Given the description of an element on the screen output the (x, y) to click on. 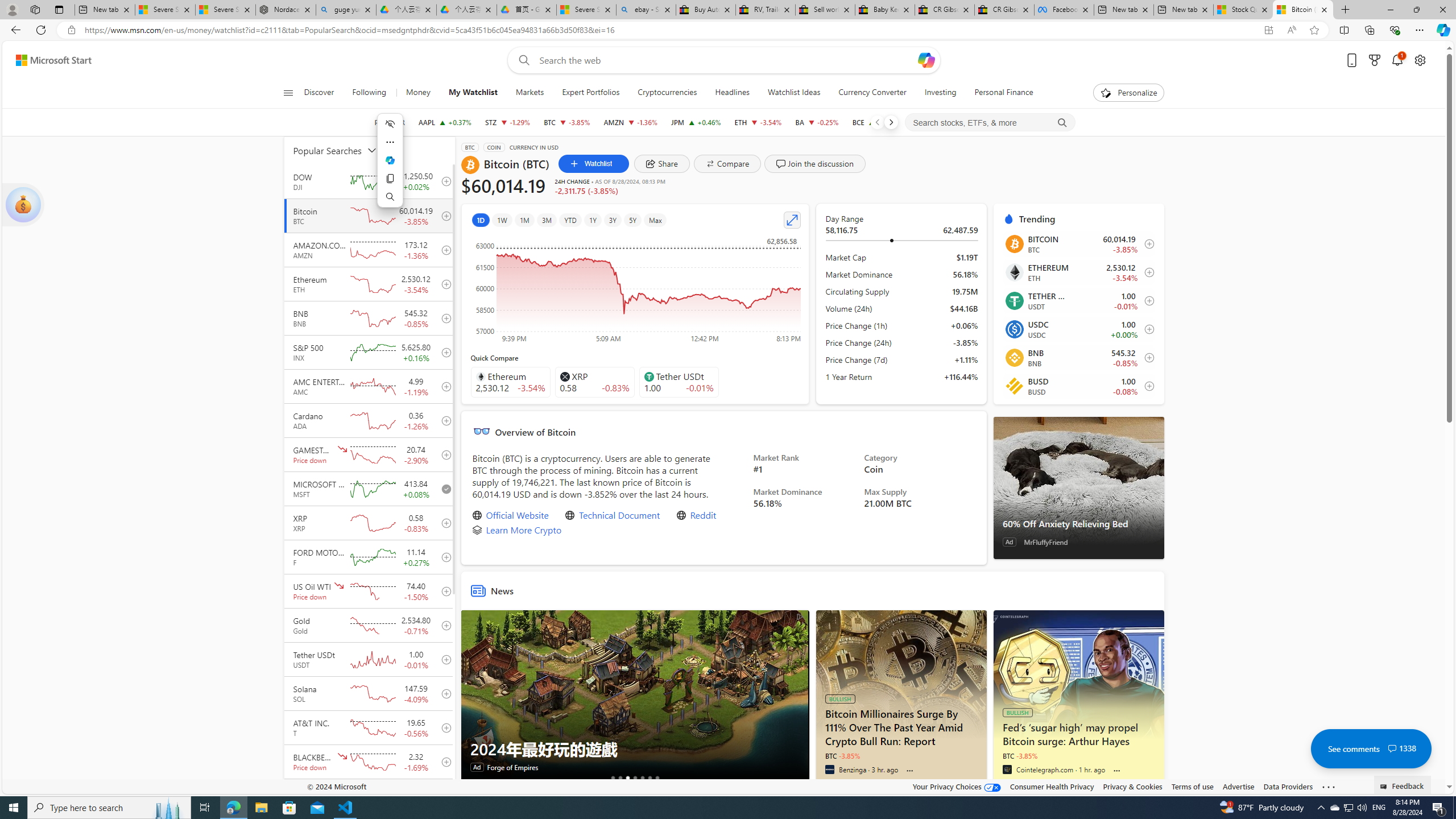
BNB (1013, 357)
Watchlist Ideas (794, 92)
show card (22, 204)
Class: recharts-surface (635, 288)
Microsoft rewards (1374, 60)
ETH Ethereum decrease 2,530.12 -89.57 -3.54% itemundefined (1078, 272)
add to your watchlist (442, 795)
